Given the description of an element on the screen output the (x, y) to click on. 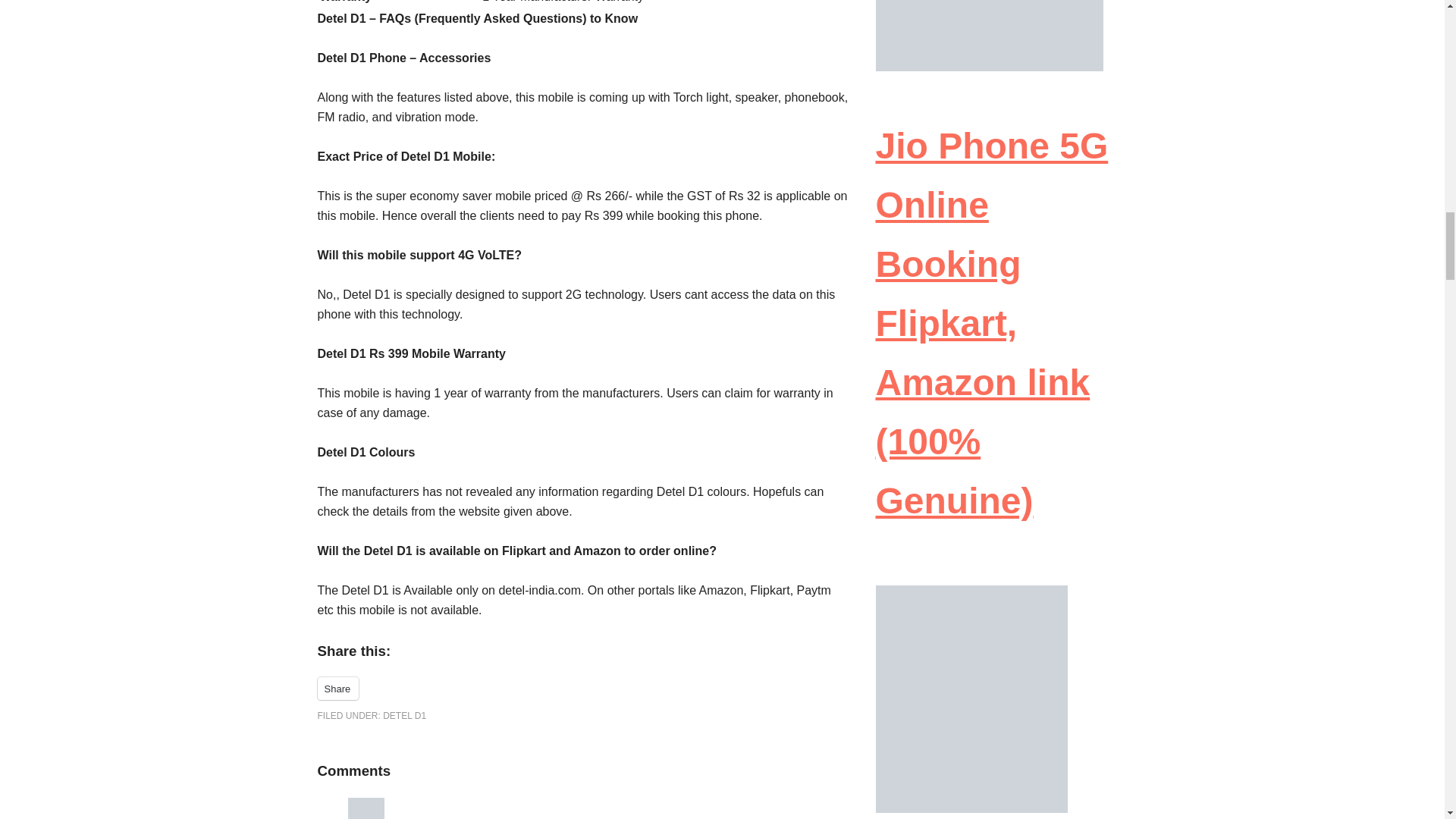
DETEL D1 (404, 715)
Share (337, 688)
